Given the description of an element on the screen output the (x, y) to click on. 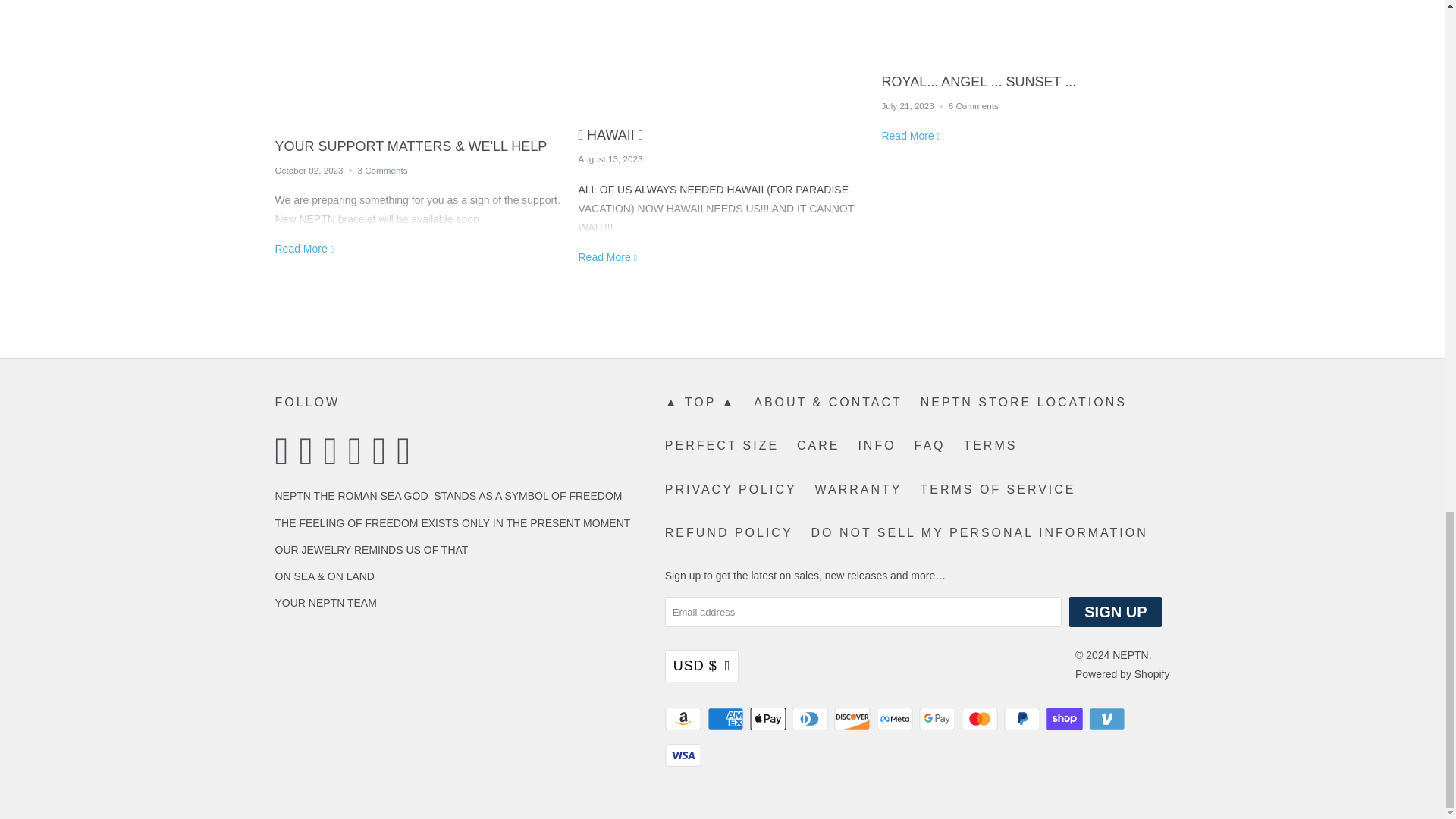
Visa (684, 754)
Meta Pay (895, 718)
Sign Up (1114, 612)
American Express (726, 718)
Apple Pay (769, 718)
Google Pay (938, 718)
Discover (853, 718)
Mastercard (980, 718)
PayPal (1023, 718)
Shop Pay (1066, 718)
